Given the description of an element on the screen output the (x, y) to click on. 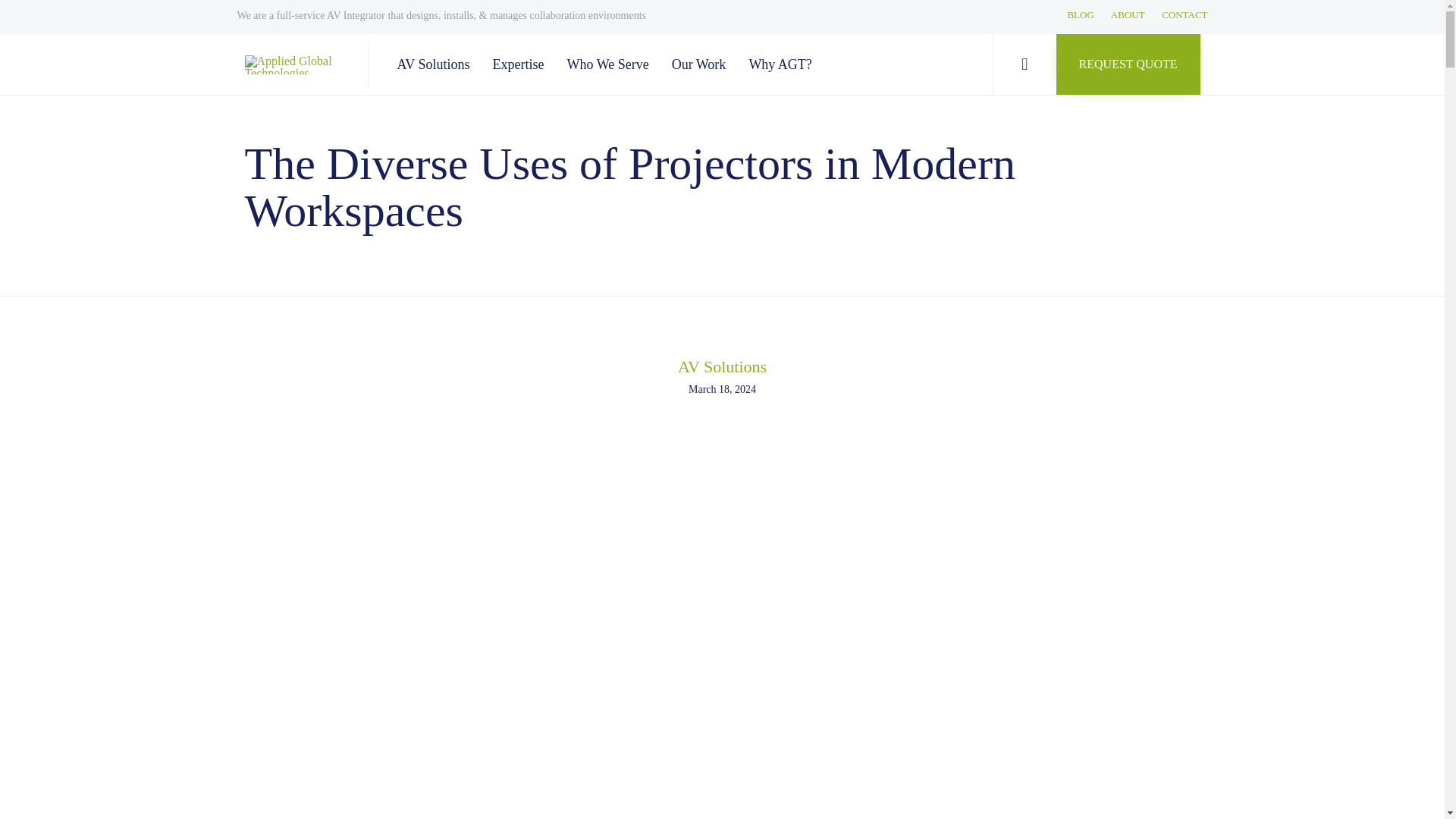
Who We Serve (609, 64)
Our Work (700, 64)
ABOUT (1127, 15)
Applied Global Technologies (294, 63)
BLOG (1080, 15)
AV Solutions (435, 64)
CONTACT (1184, 15)
Expertise (520, 64)
